Given the description of an element on the screen output the (x, y) to click on. 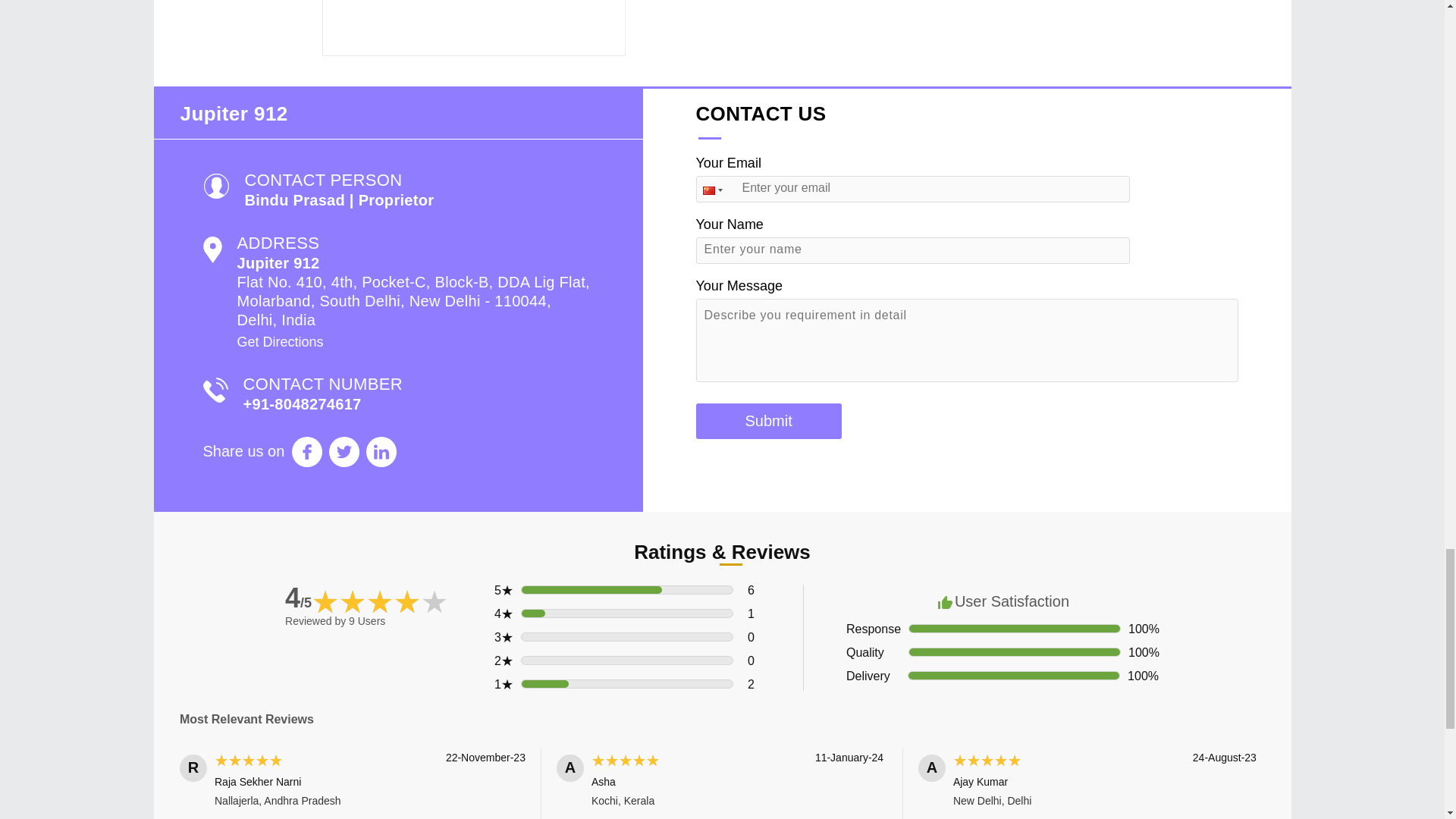
Submit (768, 420)
